Given the description of an element on the screen output the (x, y) to click on. 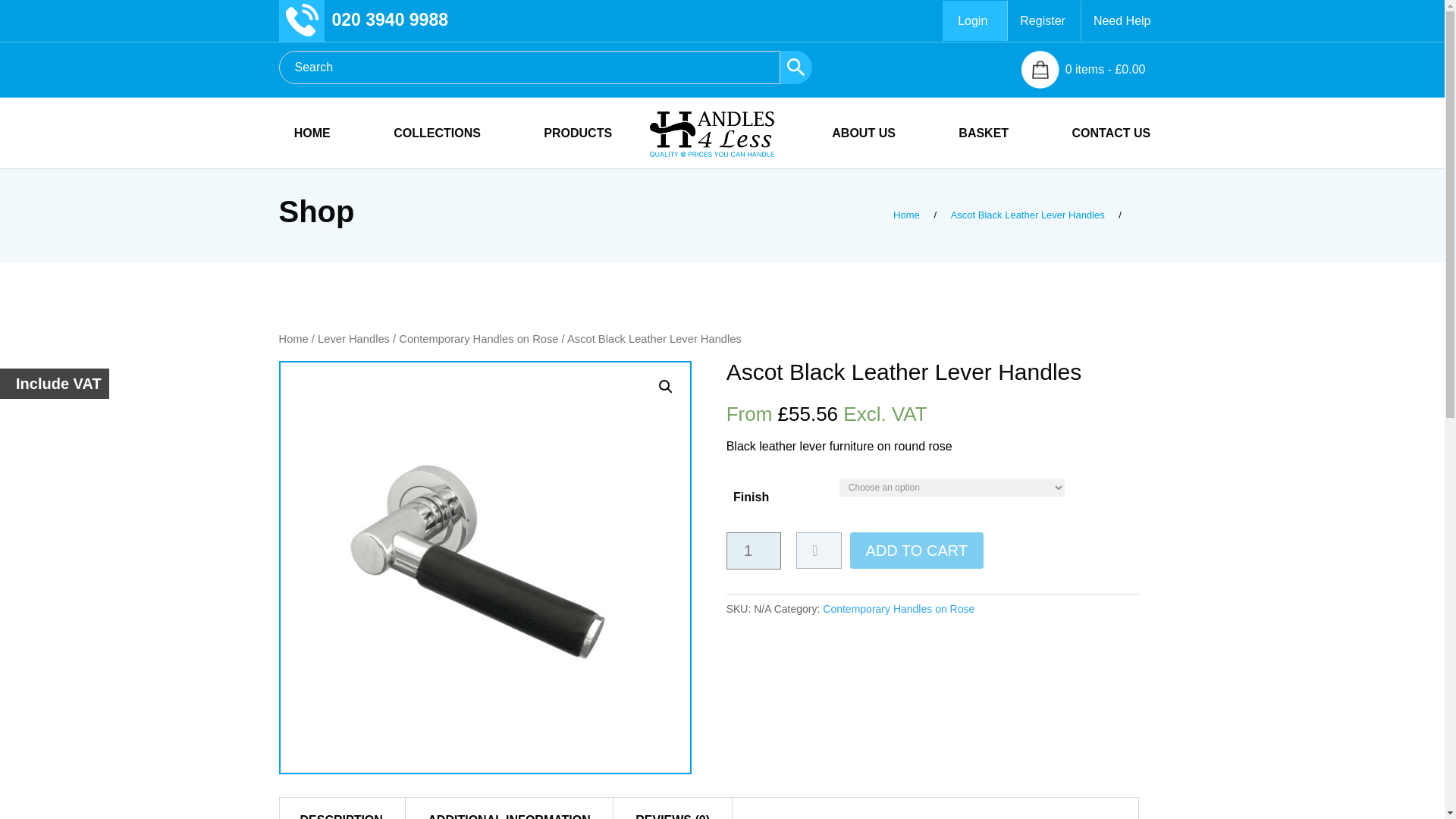
HOME (312, 147)
ADDITIONAL INFORMATION (508, 813)
PRODUCTS (577, 147)
Home (906, 214)
ADD TO CART (917, 550)
020 3940 9988 (389, 19)
Login (974, 20)
Lever Handles (353, 338)
Contemporary Handles on Rose (477, 338)
Home (906, 214)
Home (293, 338)
Ascot Black Leather Lever Handles (1027, 214)
Include VAT (54, 383)
With VAT removed (826, 413)
